Given the description of an element on the screen output the (x, y) to click on. 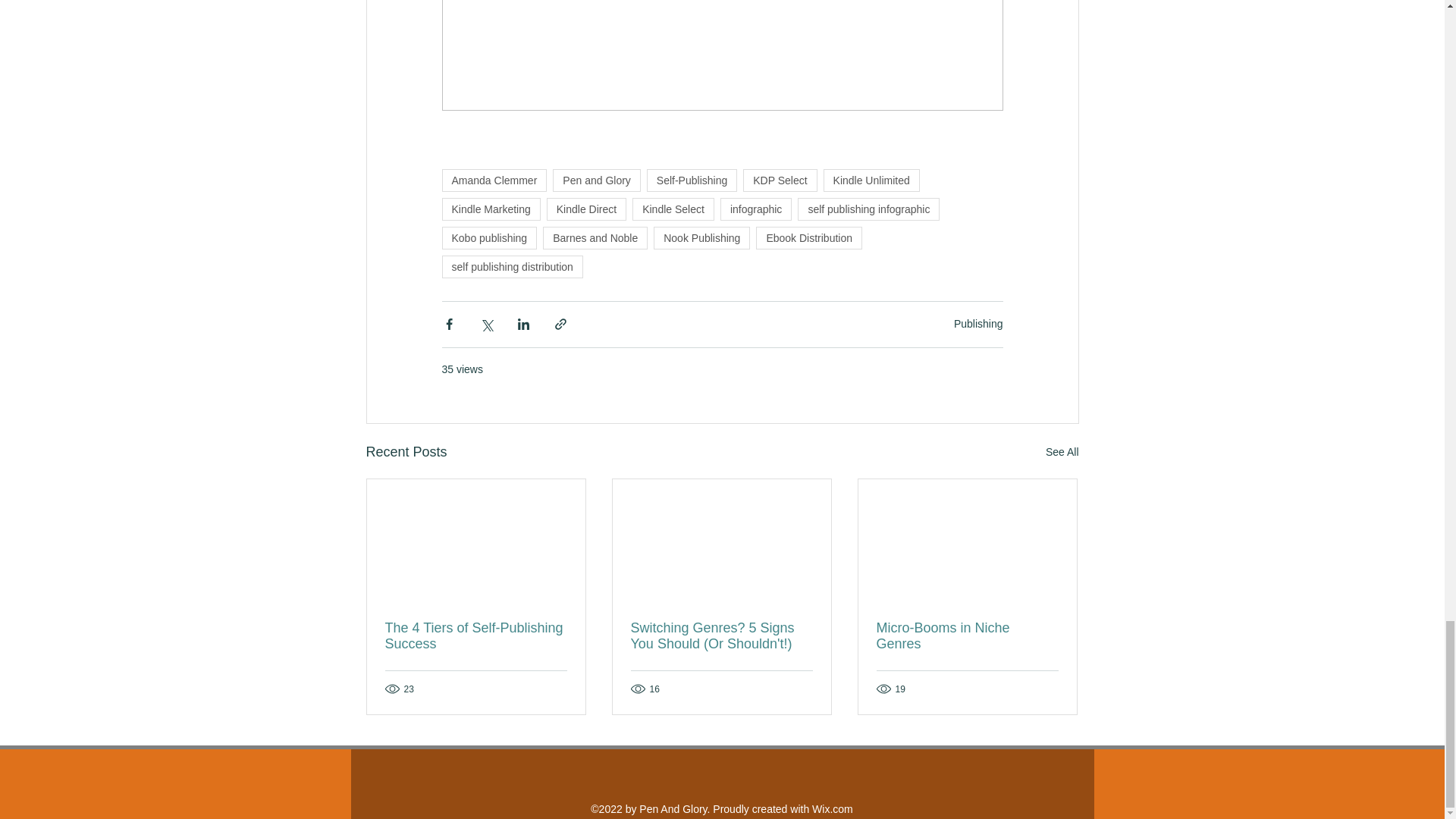
Self-Publishing (691, 179)
Kindle Unlimited (872, 179)
infographic (756, 209)
Nook Publishing (701, 237)
Kobo publishing (489, 237)
Kindle Marketing (490, 209)
Amanda Clemmer (494, 179)
Barnes and Noble (595, 237)
Kindle Direct (586, 209)
See All (1061, 452)
